Given the description of an element on the screen output the (x, y) to click on. 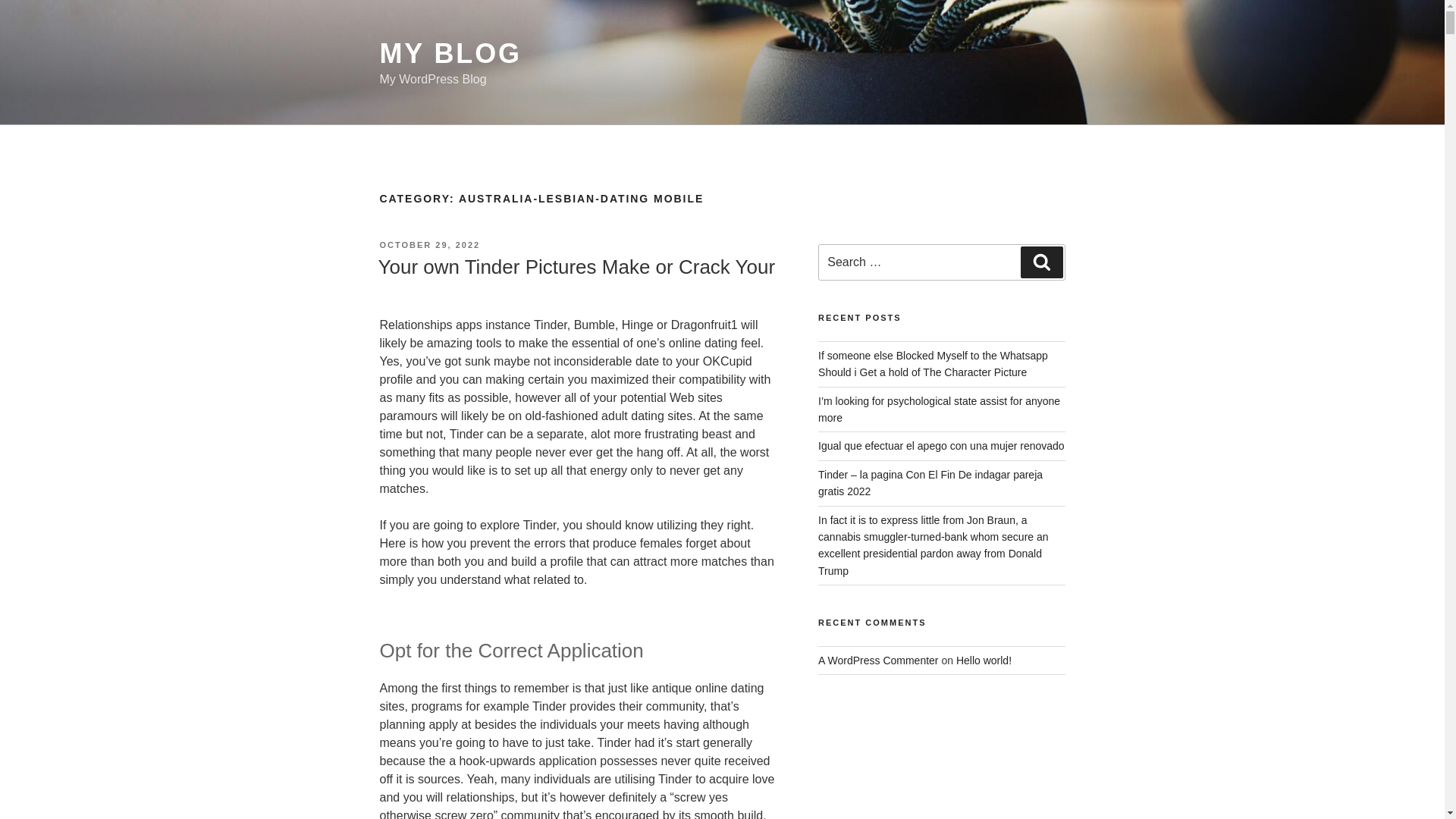
A WordPress Commenter (877, 660)
OCTOBER 29, 2022 (429, 244)
Your own Tinder Pictures Make or Crack Your (575, 266)
MY BLOG (449, 52)
Igual que efectuar el apego con una mujer renovado (941, 445)
Hello world! (983, 660)
Search (1041, 262)
